Given the description of an element on the screen output the (x, y) to click on. 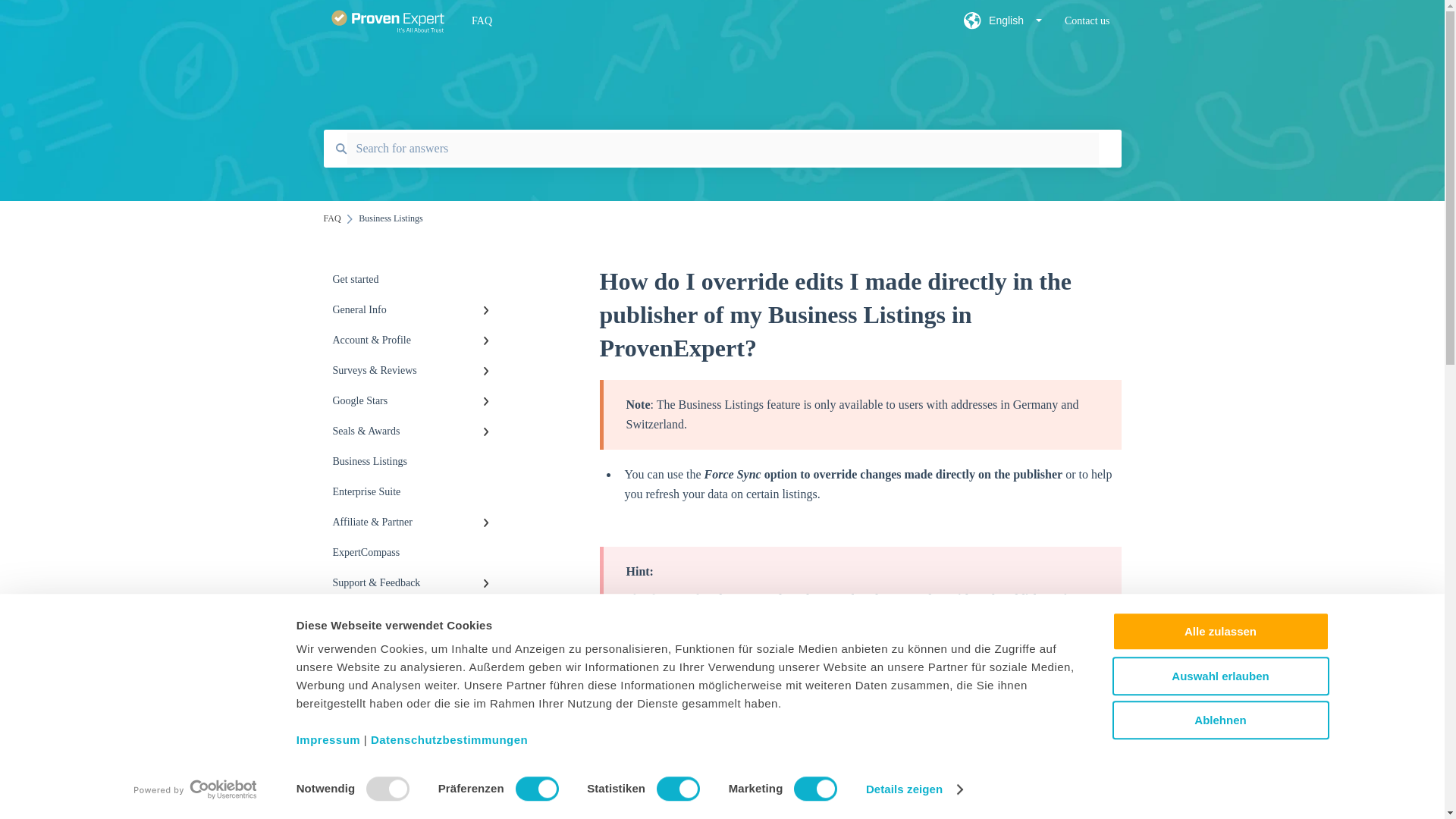
Details zeigen (914, 789)
Datenschutzbestimmungen (449, 739)
Impressum (329, 739)
